Given the description of an element on the screen output the (x, y) to click on. 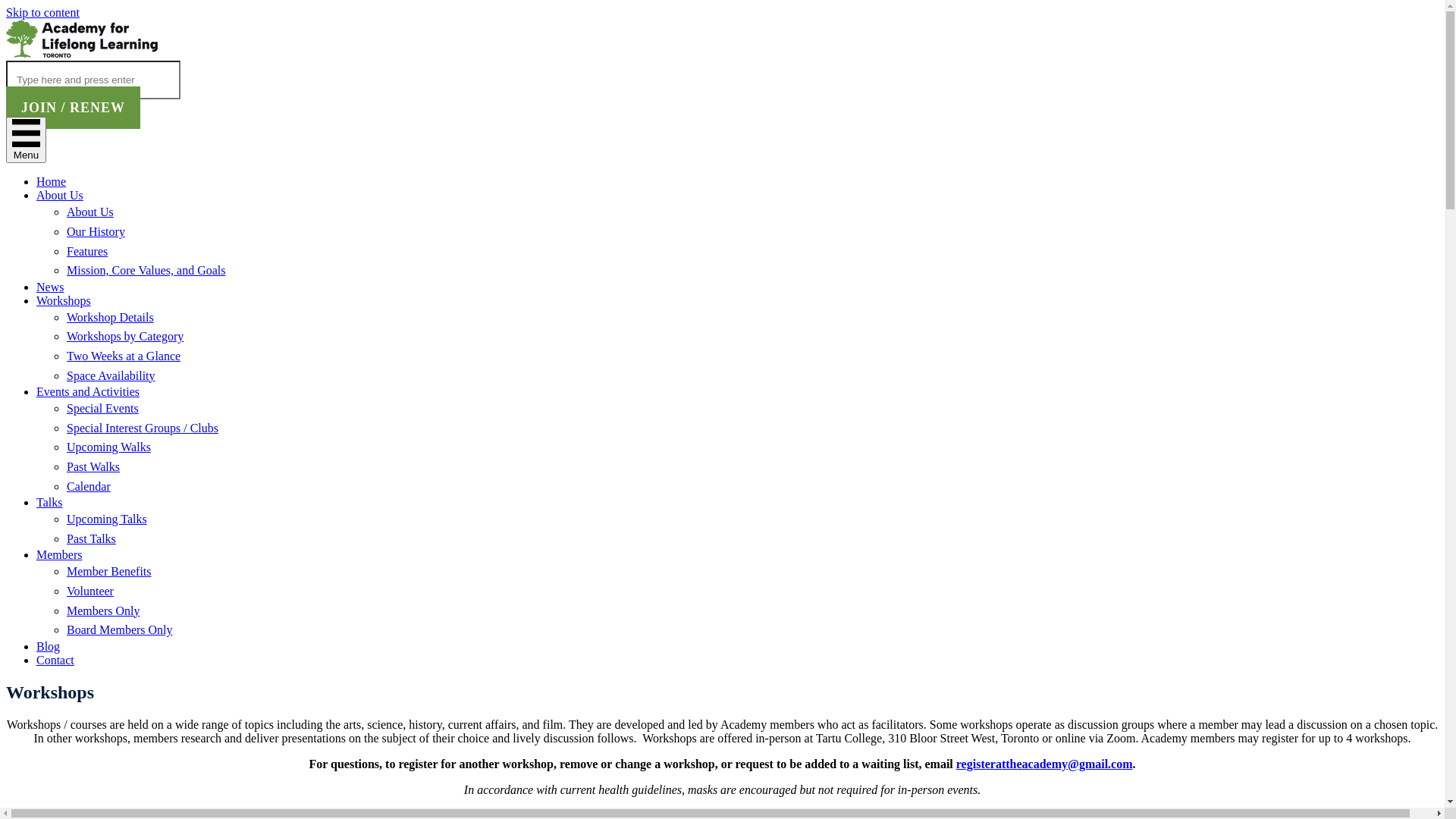
Past Walks Element type: text (92, 466)
Events and Activities Element type: text (87, 391)
Menu Element type: text (26, 139)
Workshop Details Element type: text (109, 316)
Skip to content Element type: text (42, 12)
Home Element type: text (50, 181)
News Element type: text (49, 286)
Member Benefits Element type: text (108, 570)
Members Element type: text (58, 554)
Space Availability Element type: text (110, 375)
Two Weeks at a Glance Element type: text (123, 355)
Blog Element type: text (47, 646)
Special Events Element type: text (102, 407)
Upcoming Walks Element type: text (108, 446)
Past Talks Element type: text (91, 538)
Features Element type: text (86, 250)
Board Members Only Element type: text (119, 629)
About Us Element type: text (89, 211)
Calendar Element type: text (88, 486)
JOIN / RENEW Element type: text (73, 107)
Workshops by Category Element type: text (124, 335)
registerattheacademy@gmail.com Element type: text (1044, 763)
Workshops Element type: text (63, 300)
Our History Element type: text (95, 231)
Talks Element type: text (49, 501)
Members Only Element type: text (102, 610)
Academy for Lifelong Learning Toronto logo Element type: hover (81, 38)
Contact Element type: text (55, 659)
Upcoming Talks Element type: text (106, 518)
About Us Element type: text (59, 194)
Mission, Core Values, and Goals Element type: text (145, 269)
Volunteer Element type: text (89, 590)
Special Interest Groups / Clubs Element type: text (142, 427)
